Given the description of an element on the screen output the (x, y) to click on. 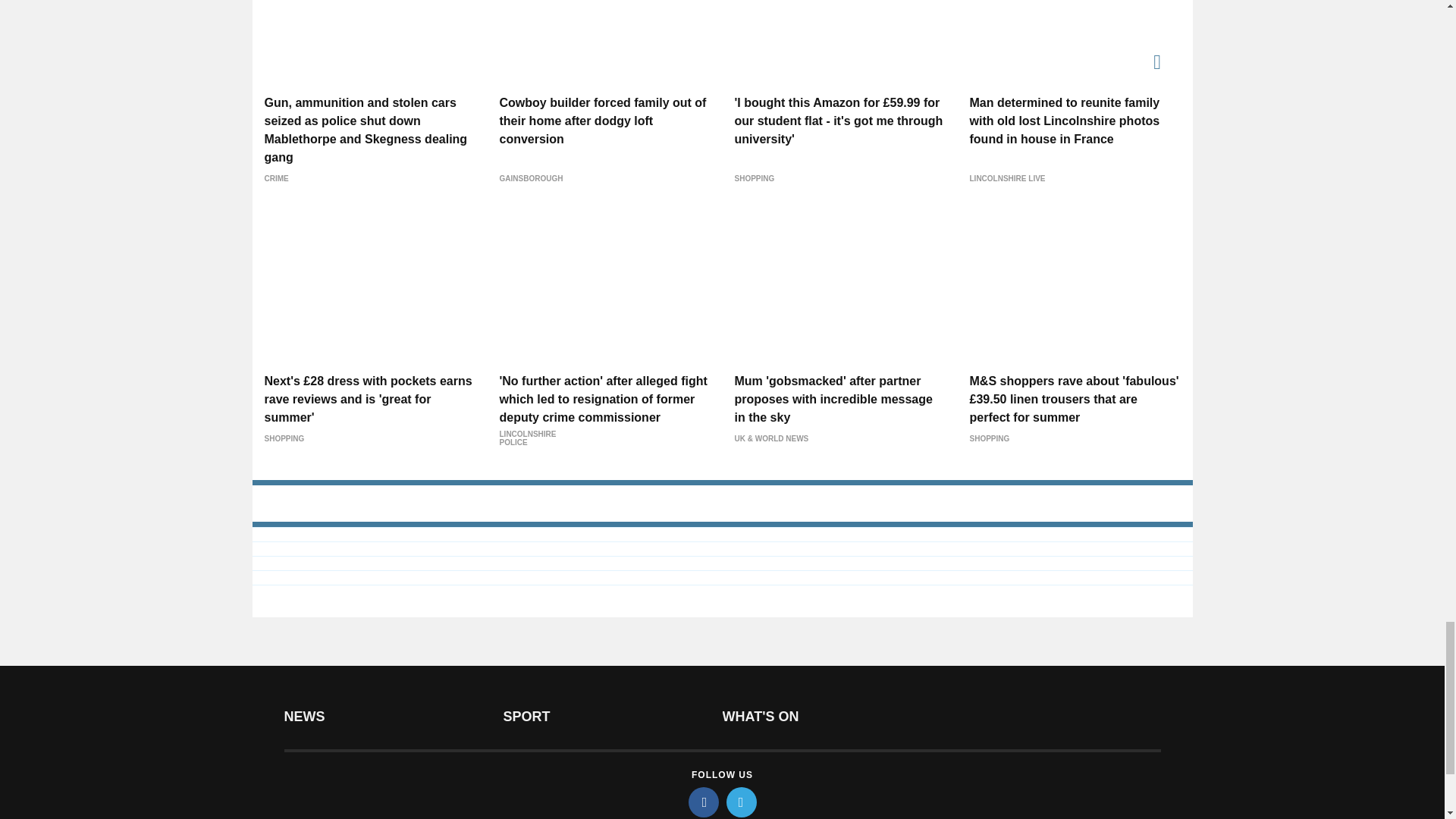
facebook (703, 802)
twitter (741, 802)
